Given the description of an element on the screen output the (x, y) to click on. 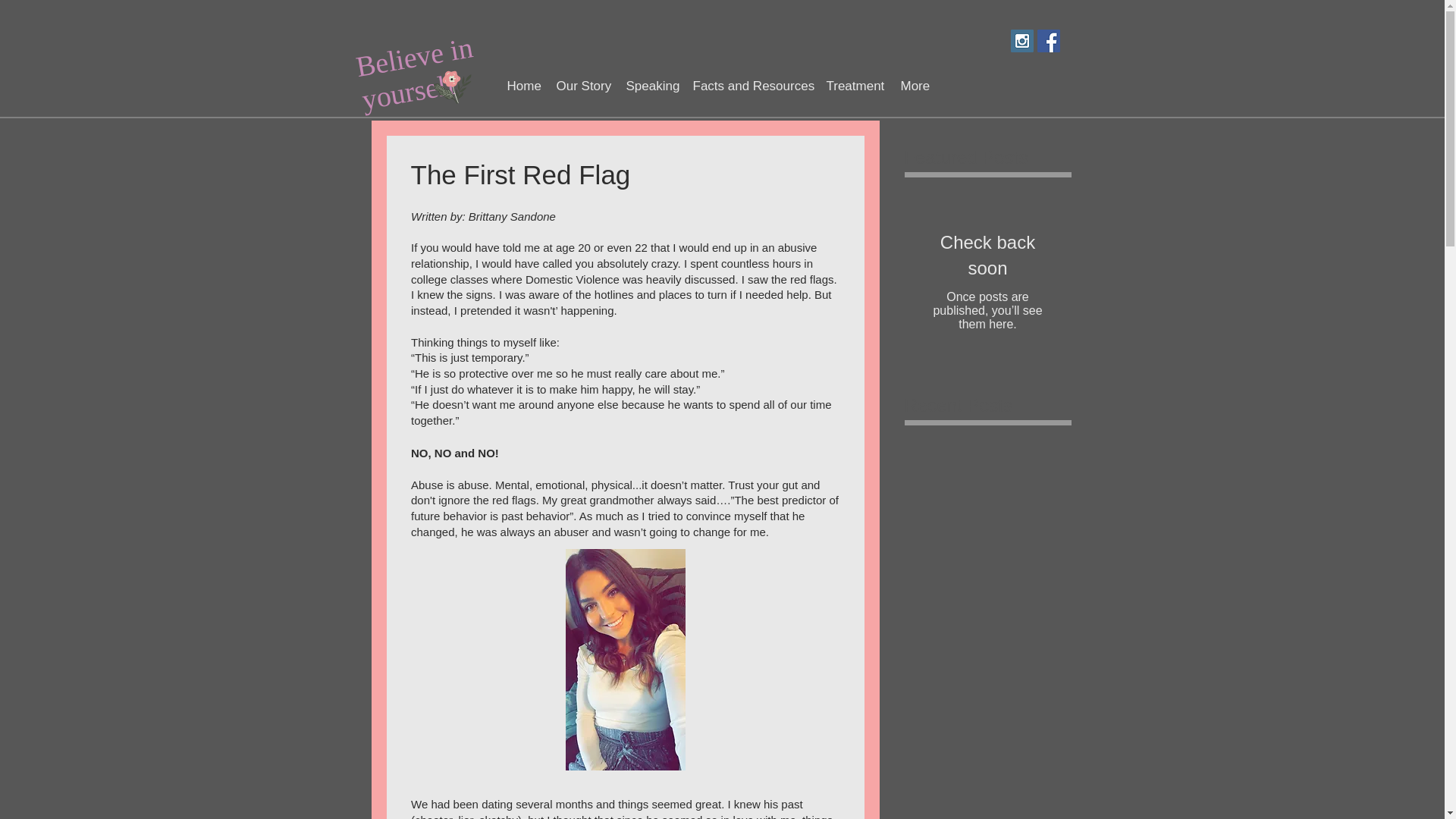
Facts and Resources (750, 86)
Home (523, 86)
Our Story (582, 86)
Treatment (853, 86)
Speaking (650, 86)
